Given the description of an element on the screen output the (x, y) to click on. 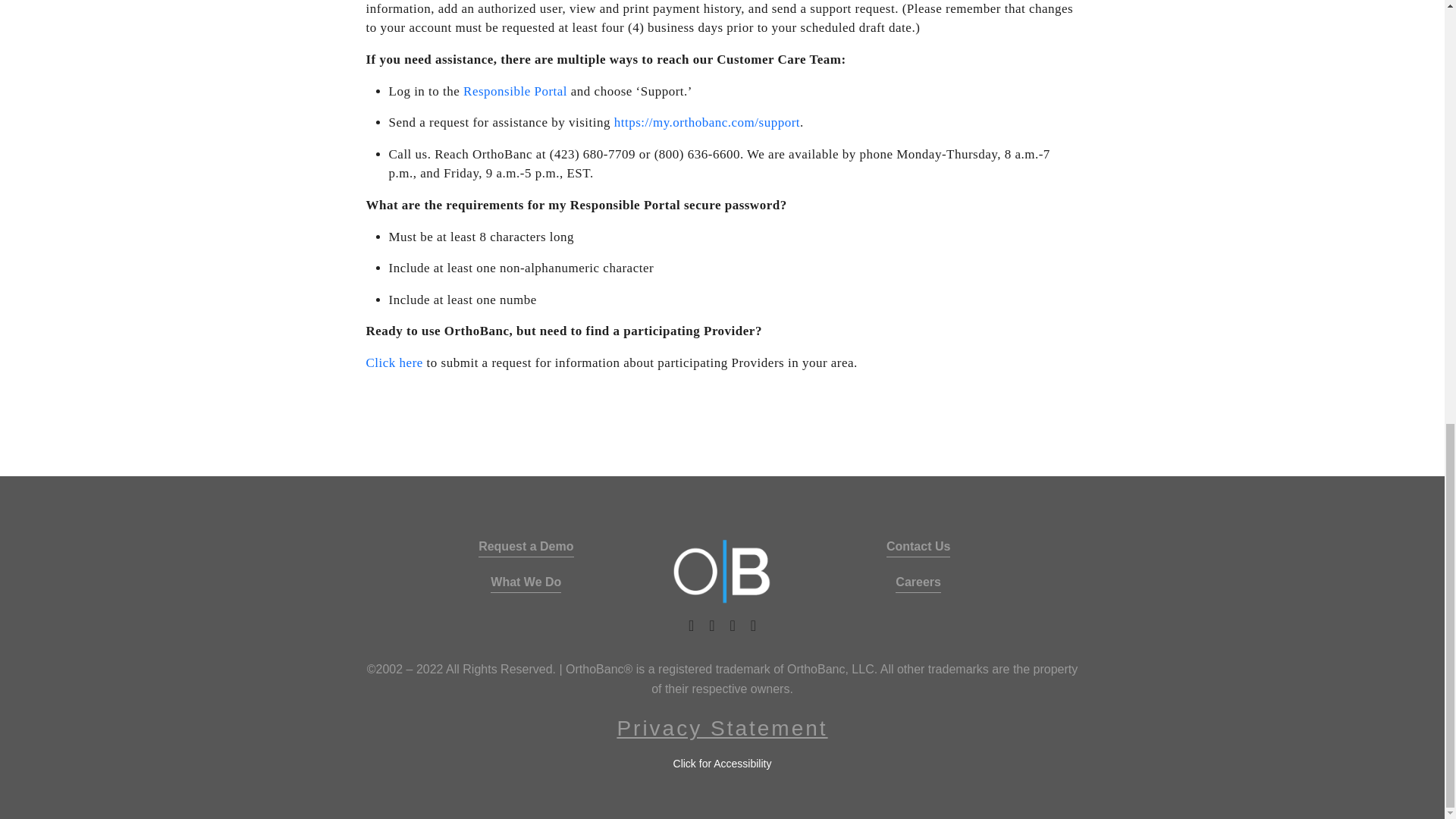
Request a Demo (526, 547)
Responsible Portal (515, 91)
Careers (917, 582)
Privacy Statement (721, 728)
What We Do (525, 582)
Click here (393, 362)
Contact Us (918, 547)
